Given the description of an element on the screen output the (x, y) to click on. 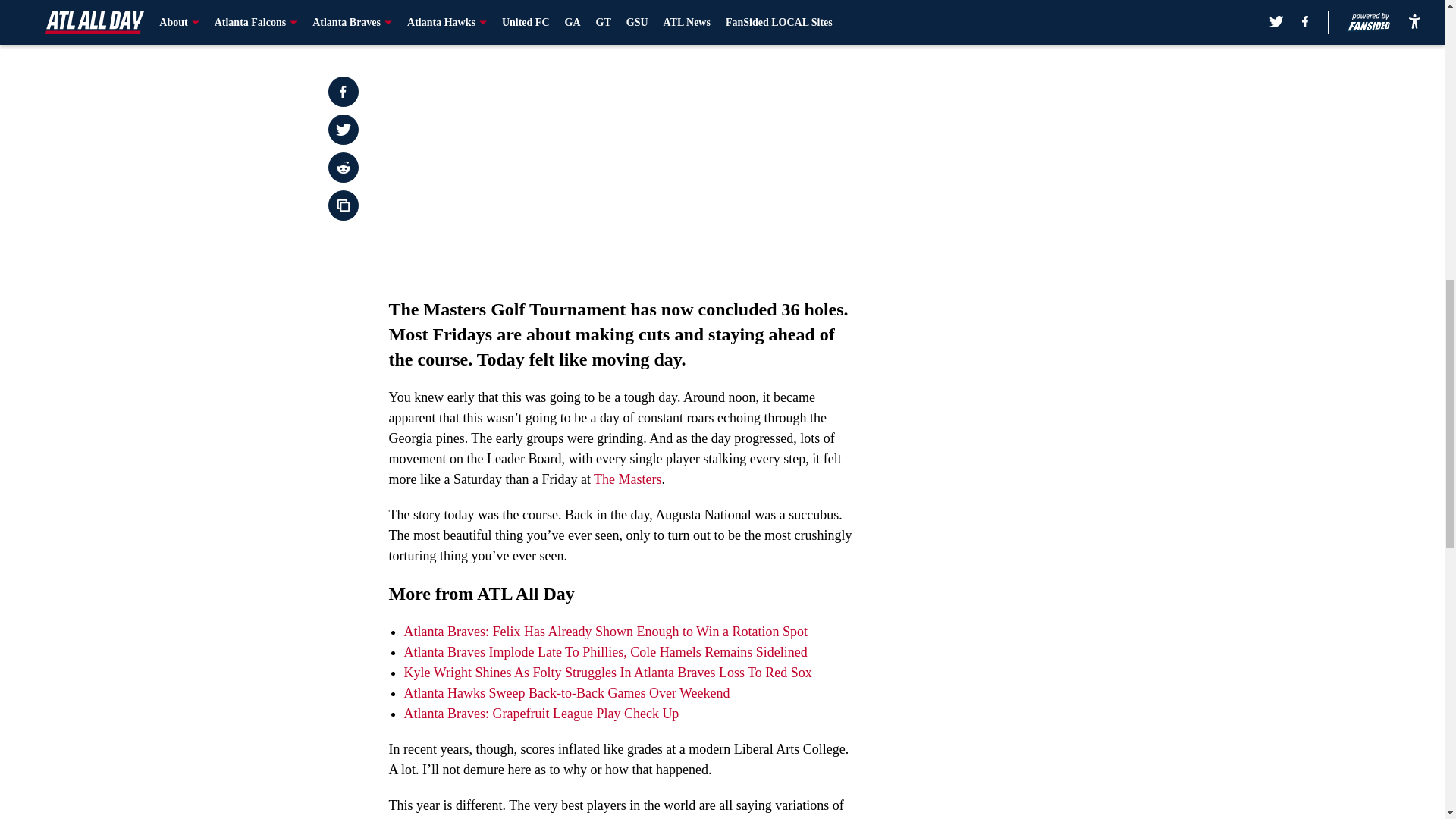
Atlanta Hawks Sweep Back-to-Back Games Over Weekend (566, 693)
Atlanta Braves: Grapefruit League Play Check Up (540, 713)
The Masters (627, 478)
